Given the description of an element on the screen output the (x, y) to click on. 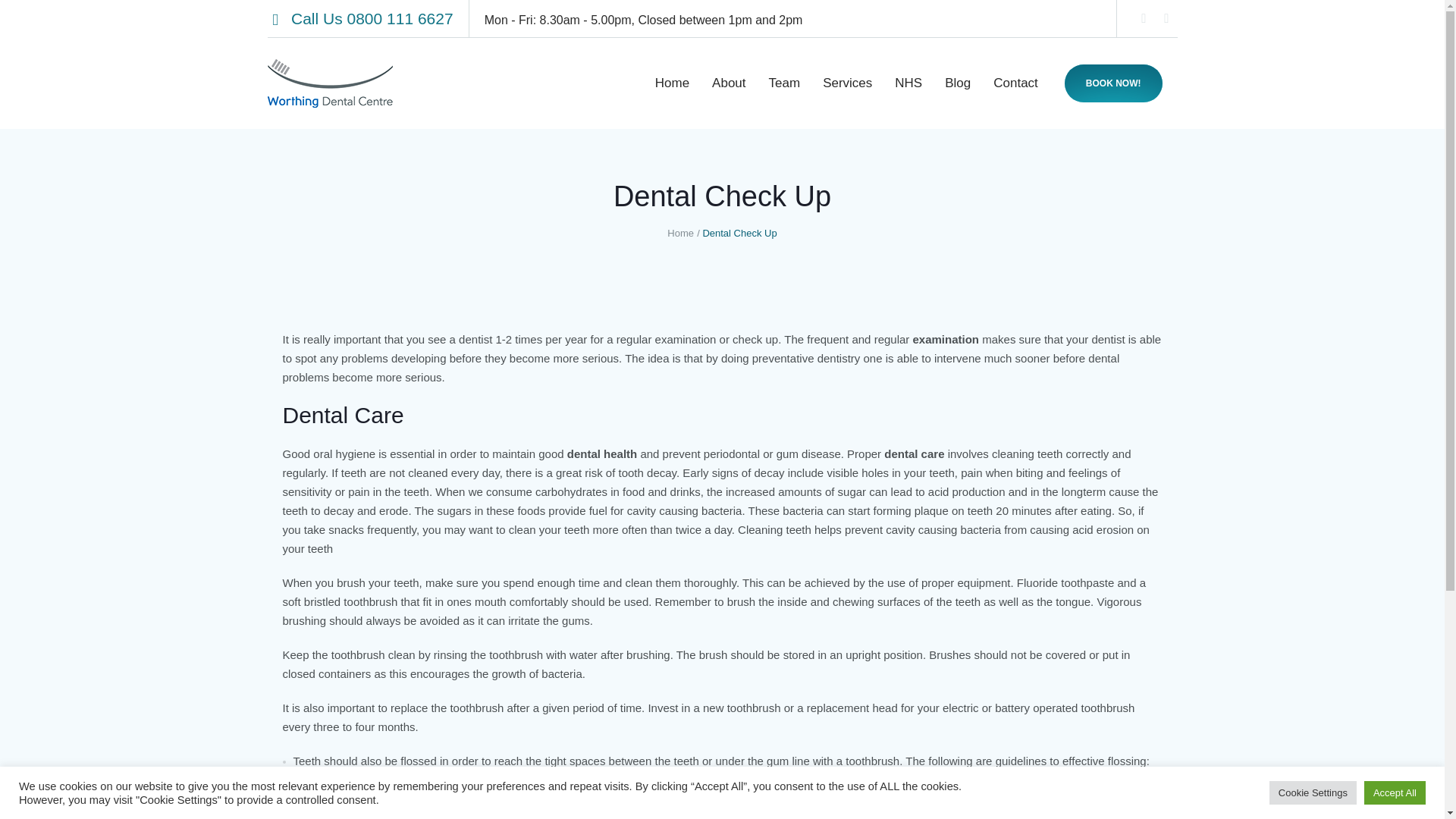
Contact (1015, 83)
Blog (957, 83)
Call Us 0800 111 6627 (359, 18)
BOOK NOW! (1112, 83)
Services (846, 83)
Instagram (1165, 17)
Accept All (1394, 792)
Home (671, 83)
About (728, 83)
Home (680, 233)
Team (784, 83)
Cookie Settings (1312, 792)
NHS (908, 83)
Facebook (1143, 17)
